Given the description of an element on the screen output the (x, y) to click on. 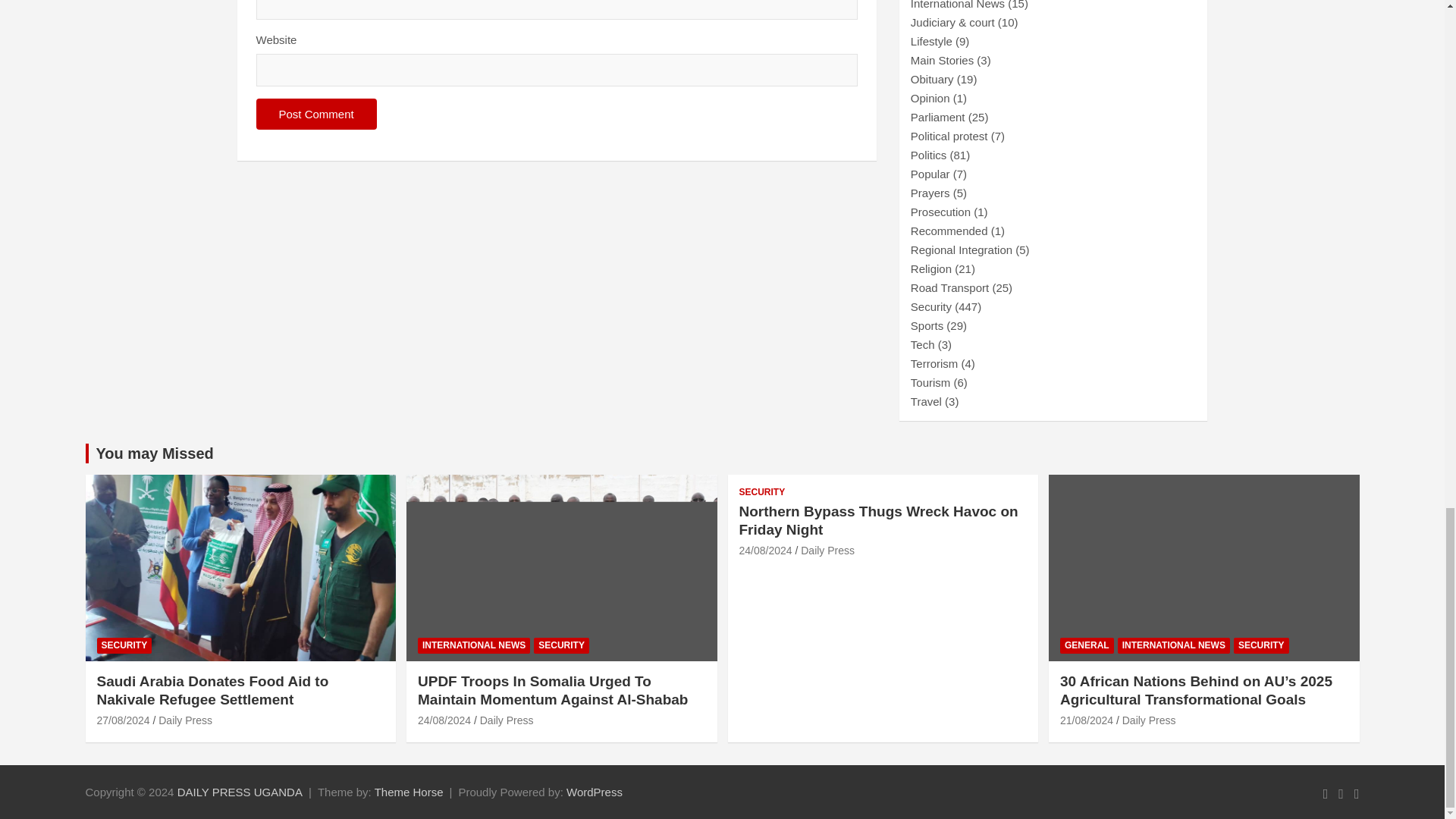
Post Comment (316, 113)
Northern Bypass Thugs Wreck Havoc on Friday Night (765, 550)
Theme Horse (409, 791)
WordPress (594, 791)
Saudi Arabia Donates Food Aid to Nakivale Refugee Settlement (123, 720)
DAILY PRESS UGANDA (239, 791)
Post Comment (316, 113)
